Given the description of an element on the screen output the (x, y) to click on. 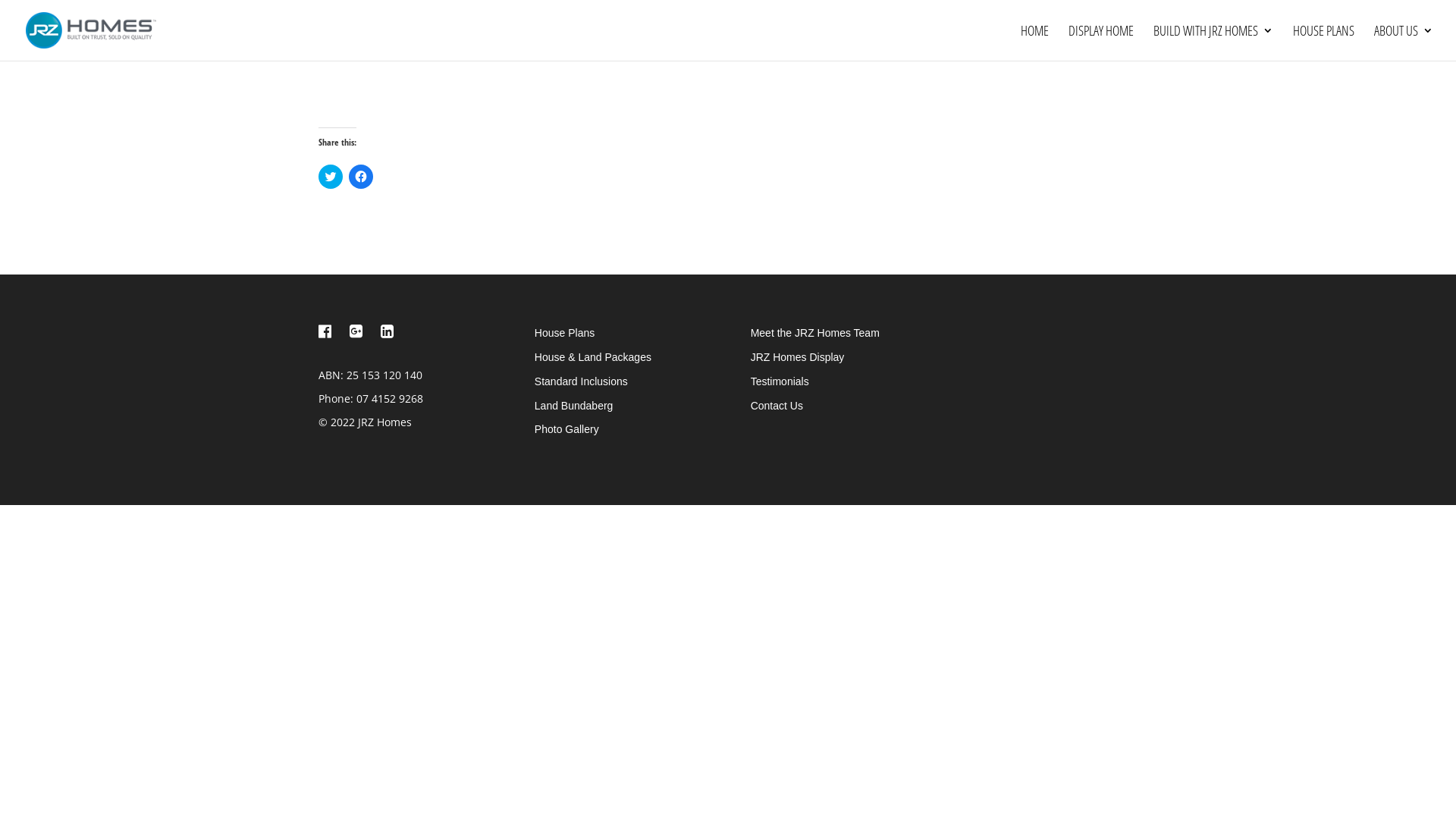
Land Bundaberg Element type: text (573, 405)
HOME Element type: text (1034, 42)
Click to share on Facebook (Opens in new window) Element type: text (360, 176)
House Plans Element type: text (564, 332)
Standard Inclusions Element type: text (580, 381)
HOUSE PLANS Element type: text (1323, 42)
DISPLAY HOME Element type: text (1100, 42)
Meet the JRZ Homes Team Element type: text (814, 332)
Photo Gallery Element type: text (566, 429)
07 4152 9268 Element type: text (389, 398)
House & Land Packages Element type: text (592, 357)
JRZ Homes Display Element type: text (797, 357)
Testimonials Element type: text (779, 381)
BUILD WITH JRZ HOMES Element type: text (1213, 42)
Contact Us Element type: text (776, 405)
ABOUT US Element type: text (1403, 42)
Click to share on Twitter (Opens in new window) Element type: text (330, 176)
